Given the description of an element on the screen output the (x, y) to click on. 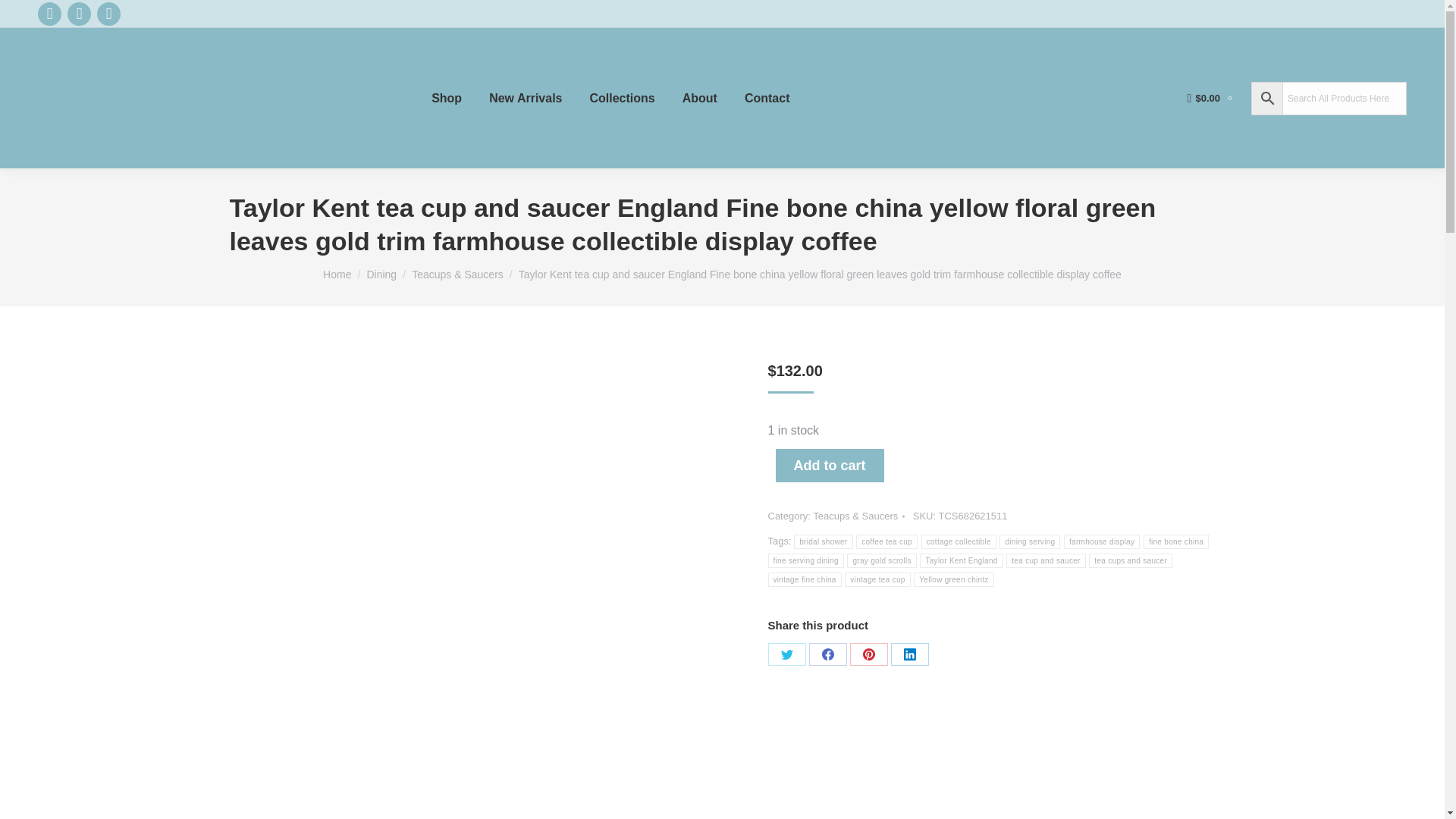
New Arrivals (525, 97)
Facebook page opens in new window (49, 13)
Dining (381, 274)
Facebook page opens in new window (49, 13)
Contact (767, 97)
Collections (622, 97)
About (699, 97)
Home (336, 274)
Instagram page opens in new window (108, 13)
Instagram page opens in new window (108, 13)
